Given the description of an element on the screen output the (x, y) to click on. 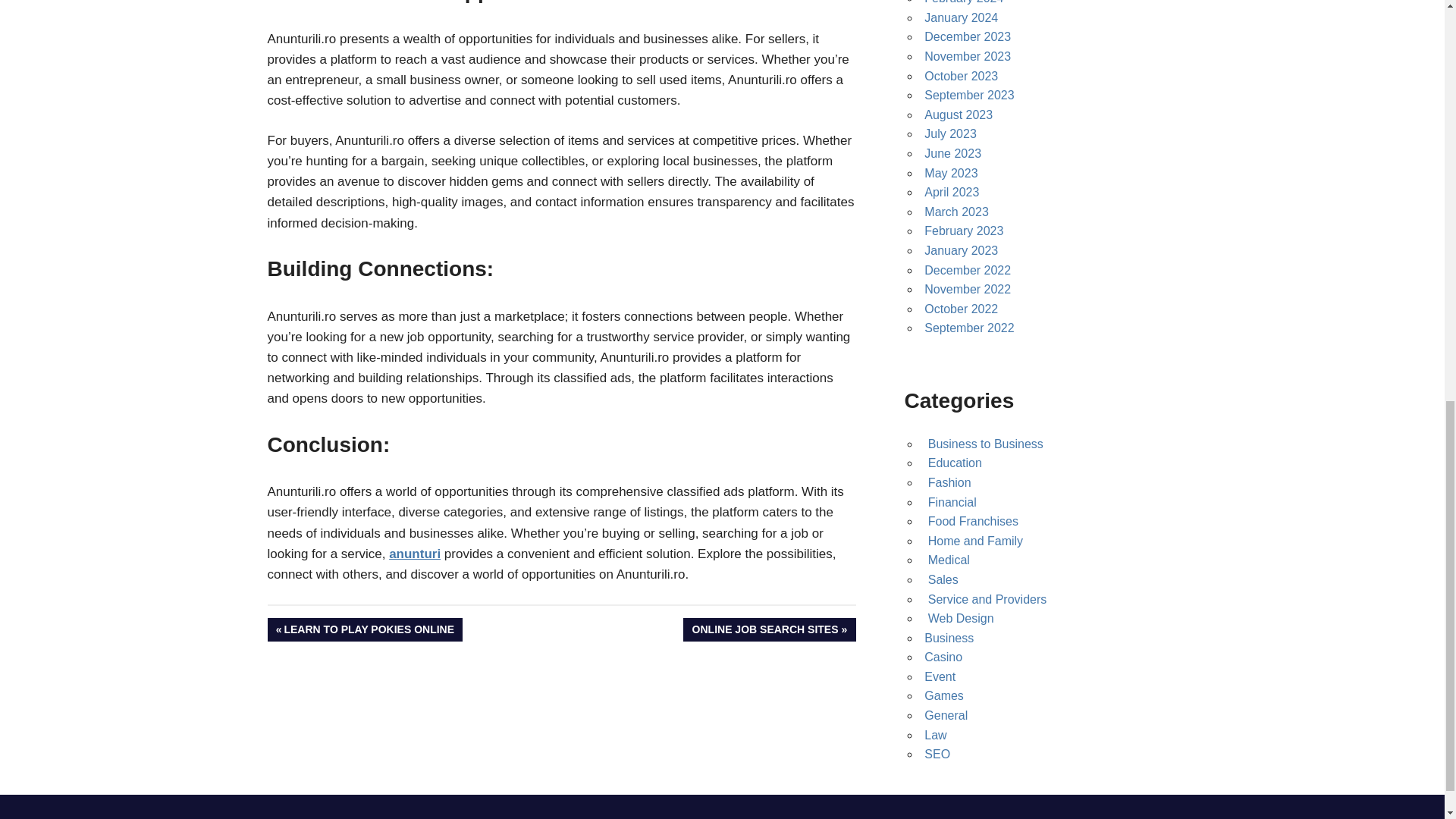
September 2023 (968, 94)
May 2023 (950, 173)
August 2023 (958, 114)
December 2023 (967, 36)
June 2023 (952, 153)
February 2024 (963, 2)
November 2023 (967, 56)
January 2024 (960, 17)
April 2023 (951, 192)
July 2023 (950, 133)
